Given the description of an element on the screen output the (x, y) to click on. 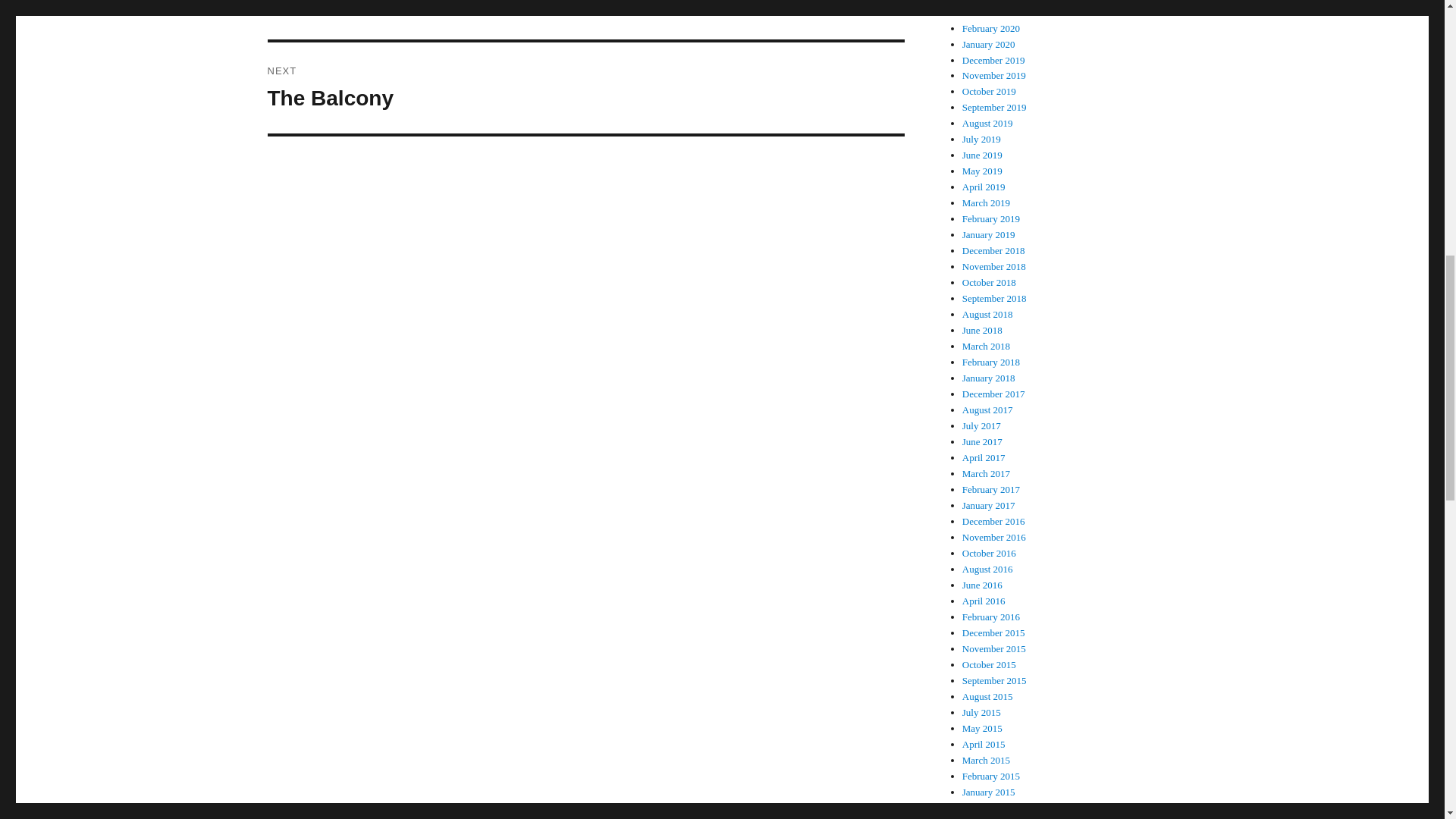
February 2020 (585, 87)
April 2019 (991, 28)
June 2019 (984, 186)
May 2019 (982, 154)
March 2020 (982, 170)
April 2020 (986, 12)
October 2019 (984, 1)
December 2019 (989, 91)
January 2019 (993, 60)
